Given the description of an element on the screen output the (x, y) to click on. 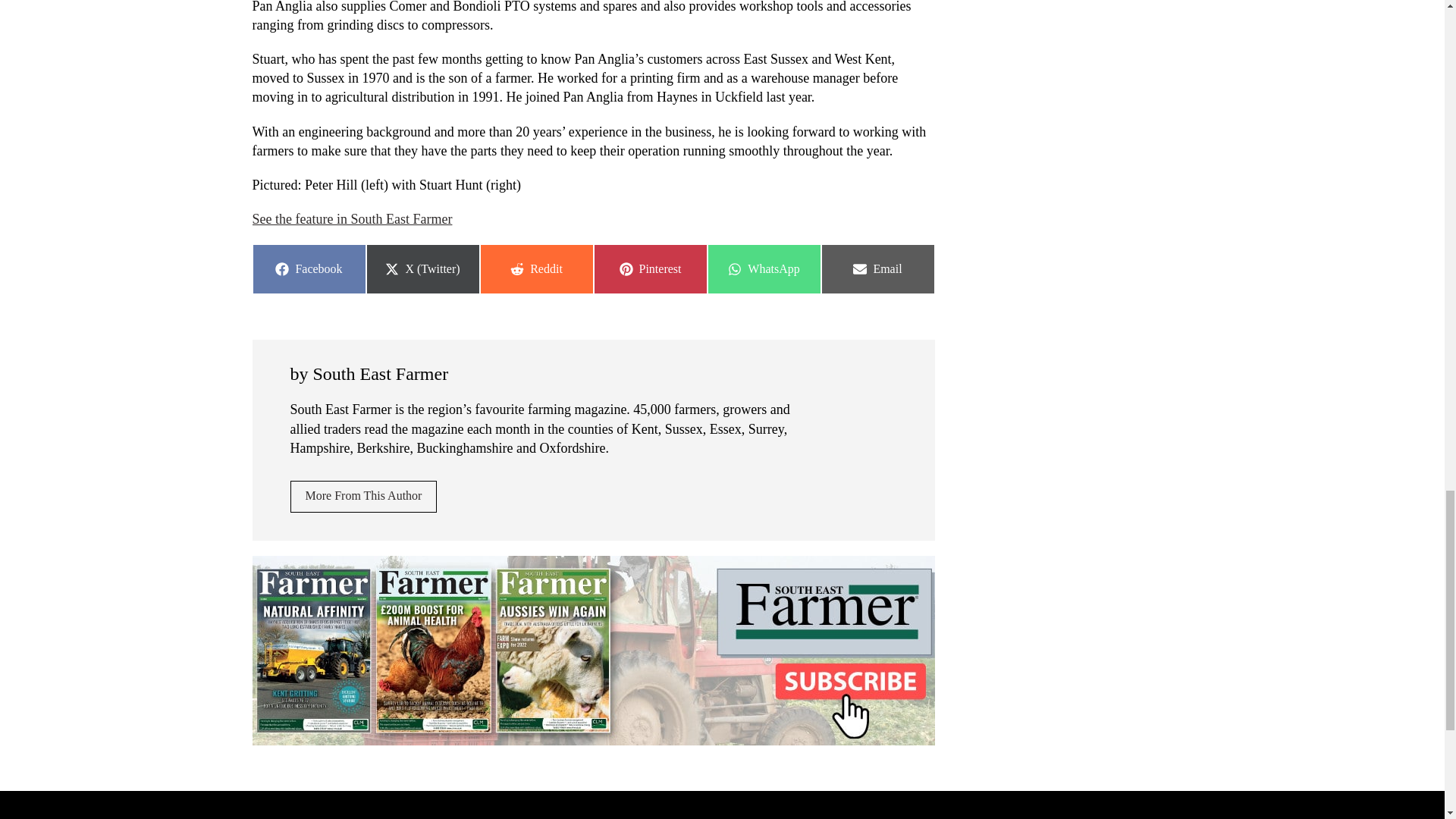
More From This Author (535, 269)
See the feature in South East Farmer (362, 496)
